Given the description of an element on the screen output the (x, y) to click on. 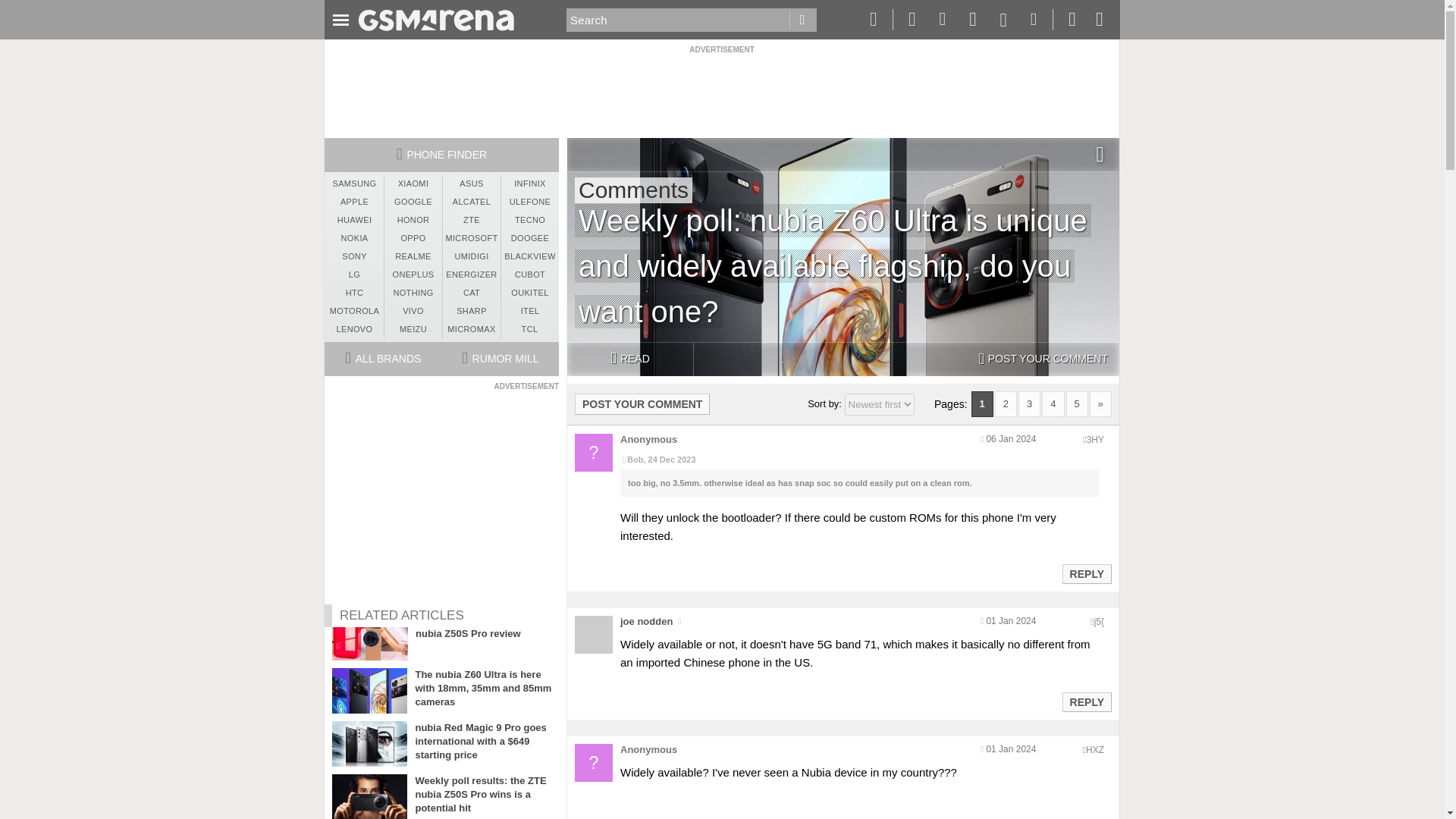
Reply to this post (1086, 573)
POST YOUR COMMENT (642, 403)
POST YOUR COMMENT (1042, 359)
READ (630, 359)
Encoded anonymized location (1094, 749)
Sort comments by (879, 404)
Encoded anonymized location (1094, 439)
Encoded anonymized location (1098, 621)
Go (802, 19)
Reply to this post (1086, 702)
REPLY (1086, 574)
Go (802, 19)
